Given the description of an element on the screen output the (x, y) to click on. 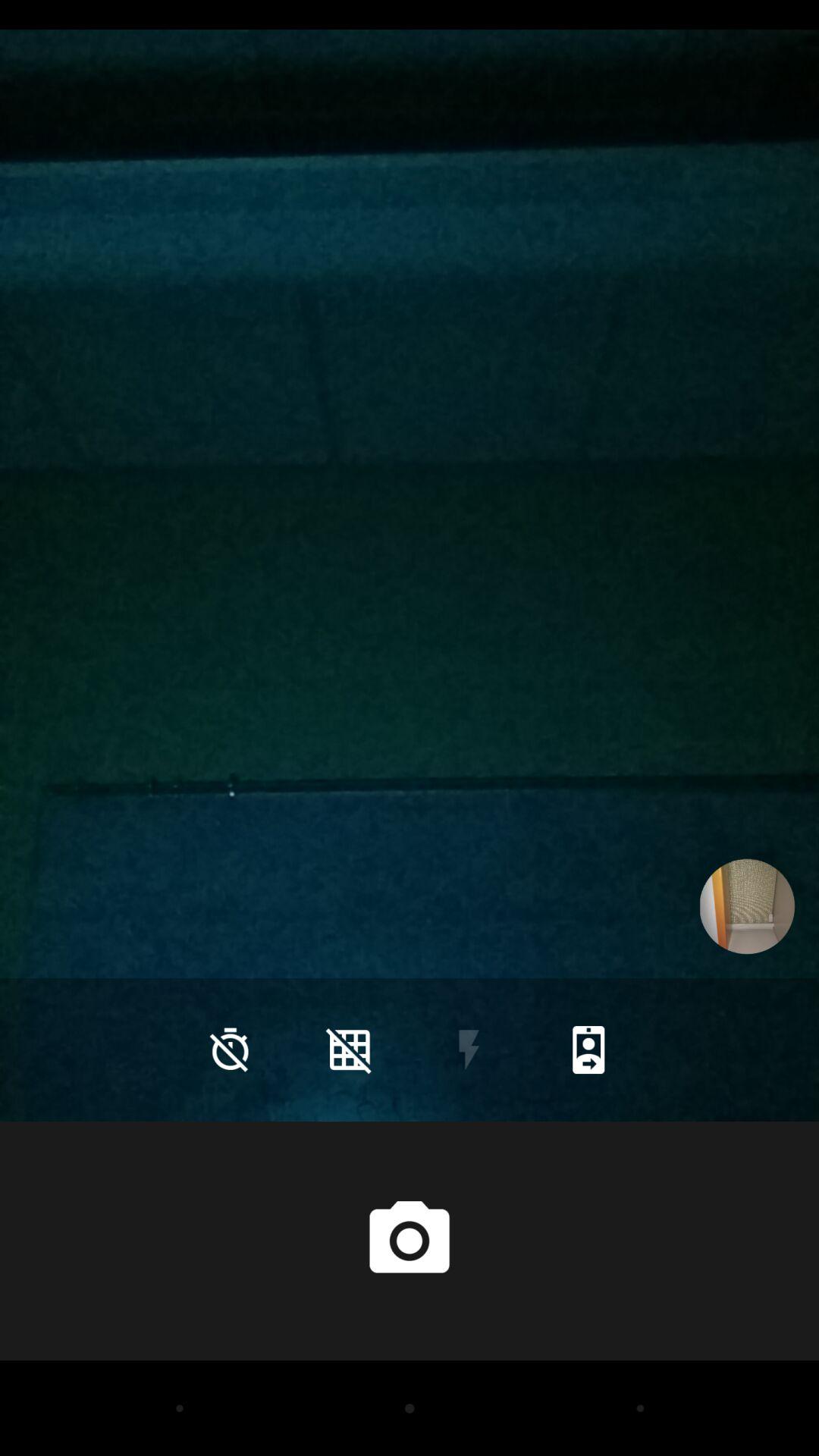
select the icon on the right (746, 905)
